Given the description of an element on the screen output the (x, y) to click on. 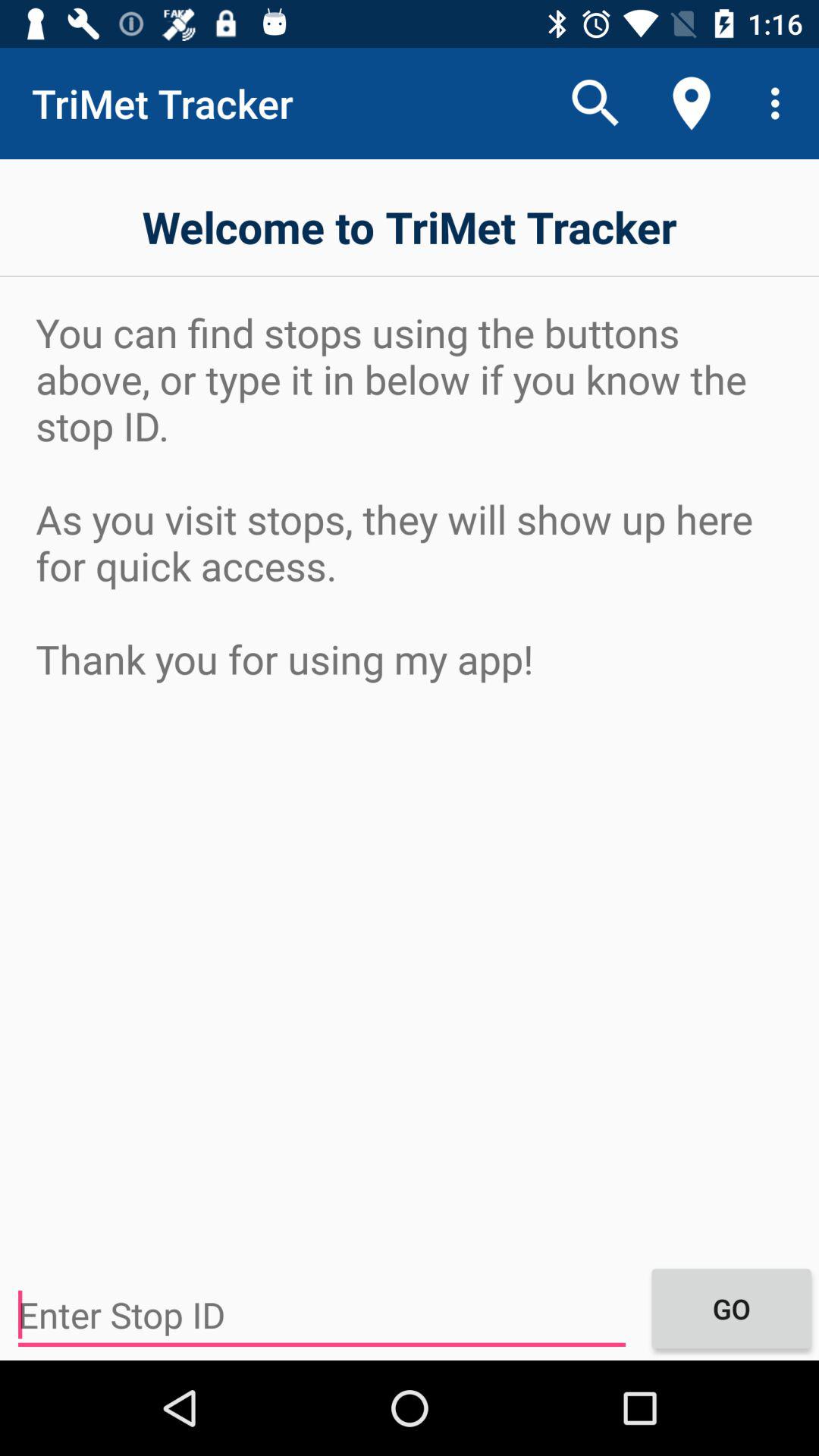
choose icon above the welcome to trimet (779, 103)
